Given the description of an element on the screen output the (x, y) to click on. 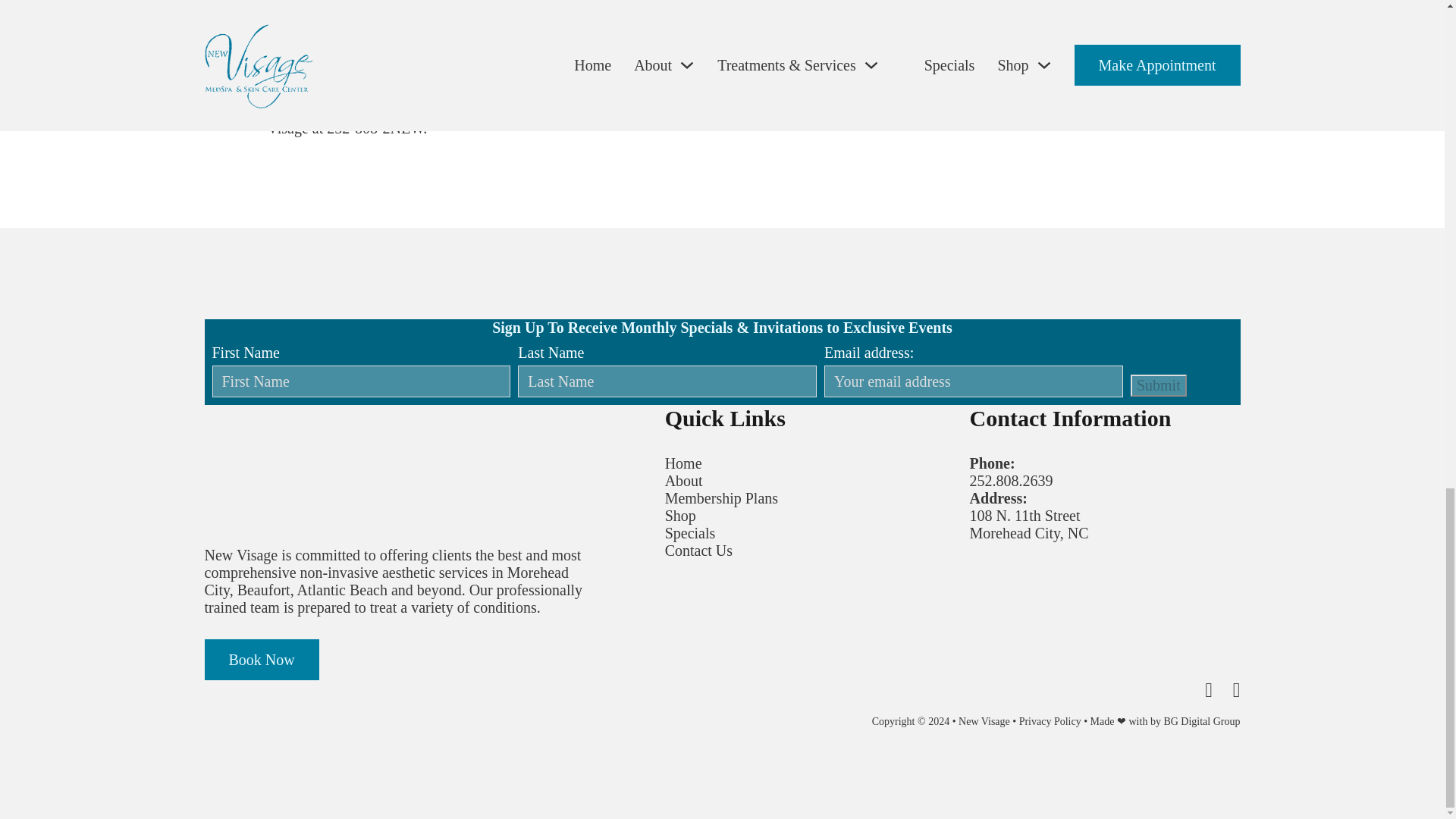
Submit (1158, 385)
